Given the description of an element on the screen output the (x, y) to click on. 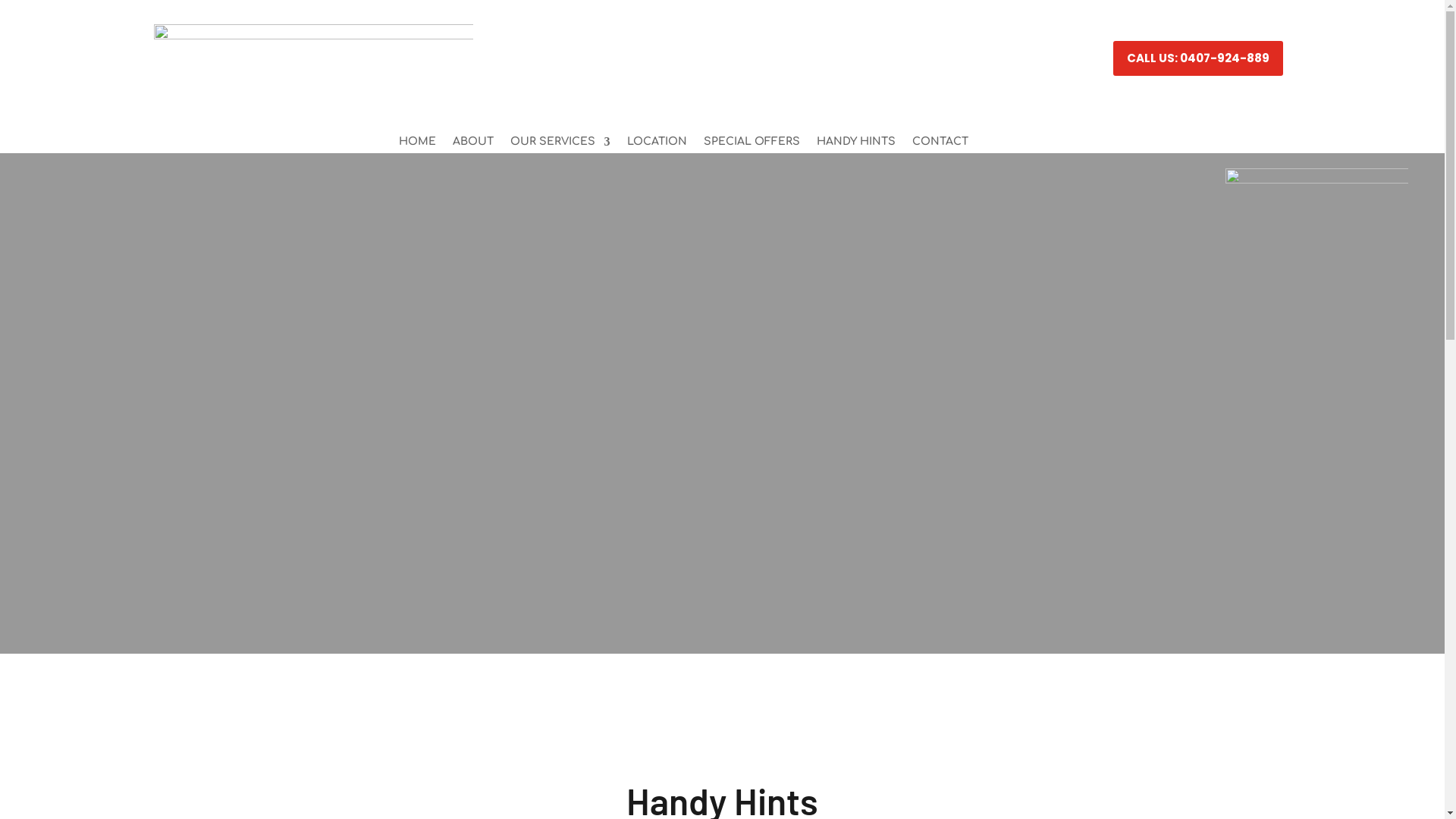
ABOUT Element type: text (471, 144)
CONTACT Element type: text (939, 144)
55656565 Element type: hover (1316, 259)
HOME Element type: text (417, 144)
OUR SERVICES Element type: text (559, 144)
Nature-Coast-Plumbing_Logo-01-1024x230 Element type: hover (312, 60)
CALL US: 0407-924-889 Element type: text (1198, 57)
HANDY HINTS Element type: text (854, 144)
LOCATION Element type: text (656, 144)
SPECIAL OFFERS Element type: text (751, 144)
